Given the description of an element on the screen output the (x, y) to click on. 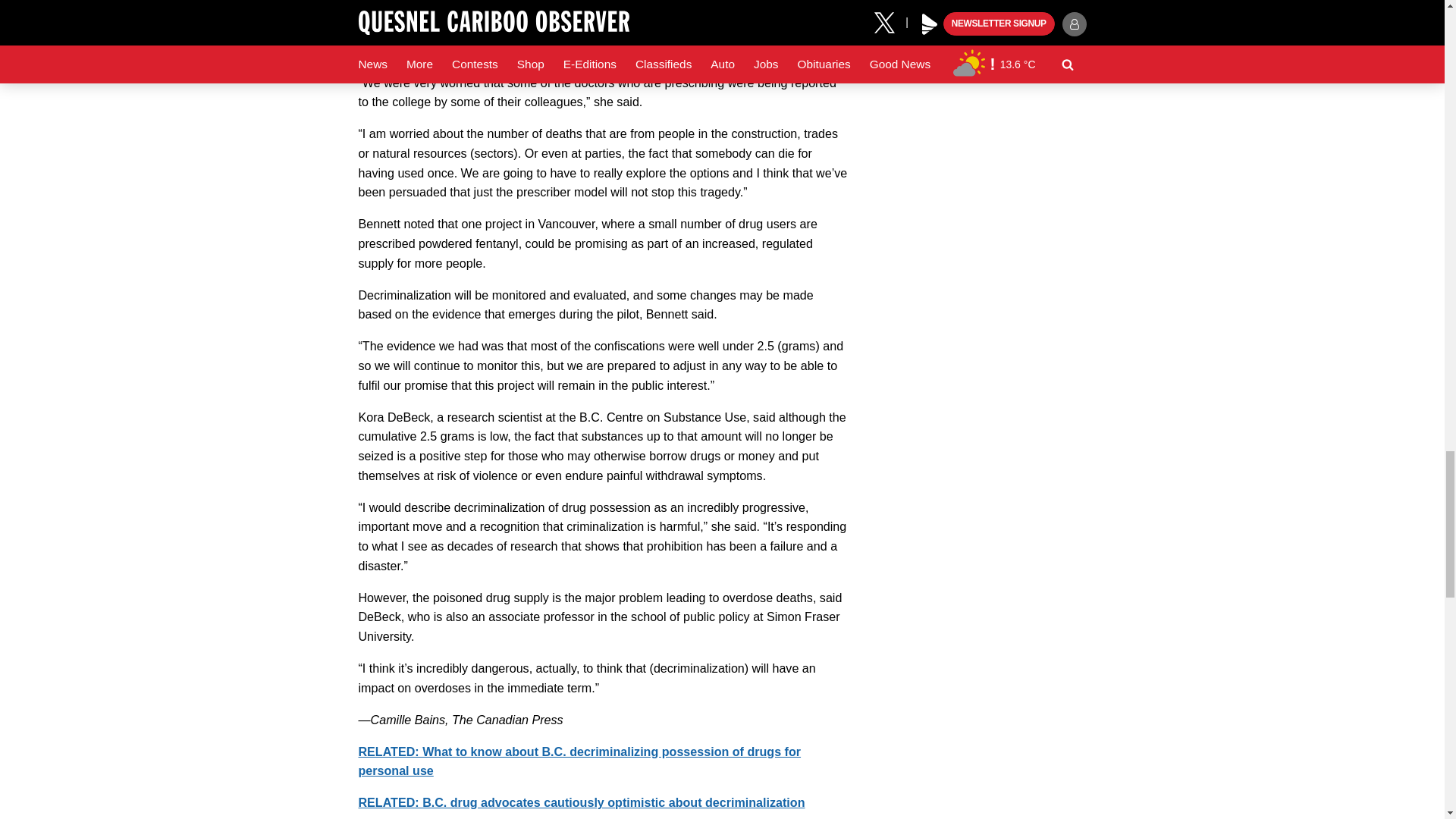
related story (579, 761)
related story (581, 802)
